Given the description of an element on the screen output the (x, y) to click on. 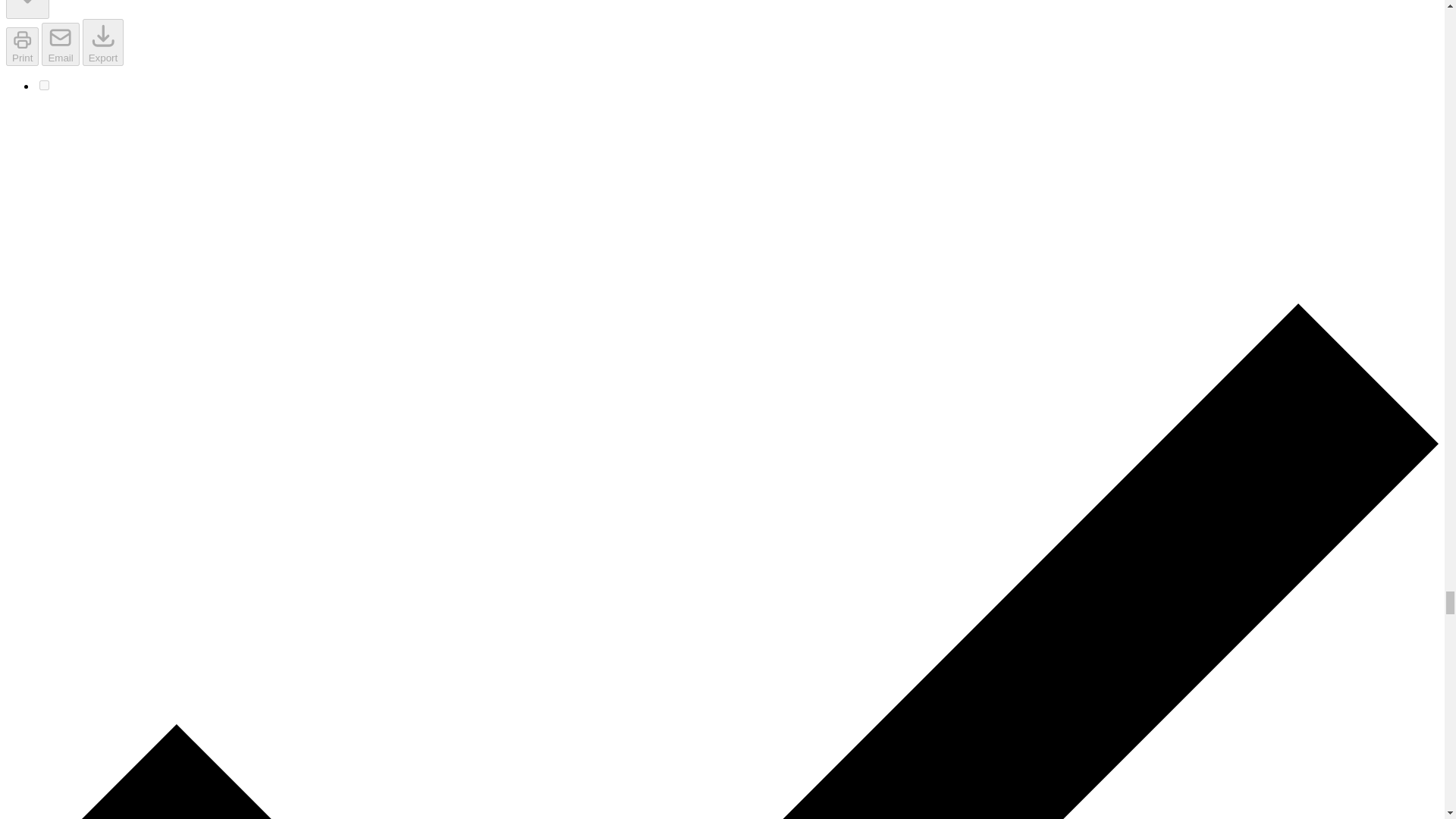
Action (27, 9)
